Given the description of an element on the screen output the (x, y) to click on. 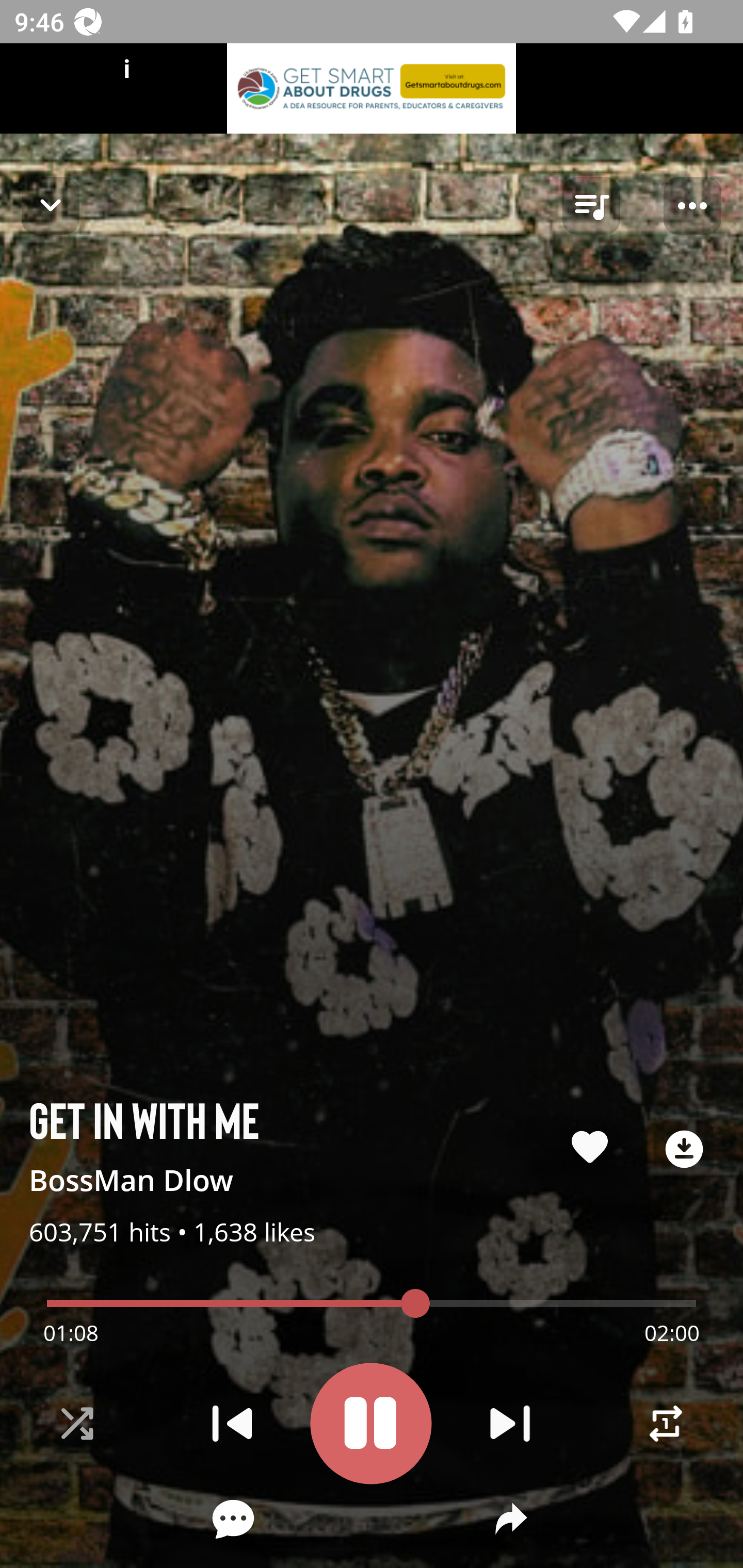
Navigate up (50, 205)
queue (590, 206)
Player options (692, 206)
